Given the description of an element on the screen output the (x, y) to click on. 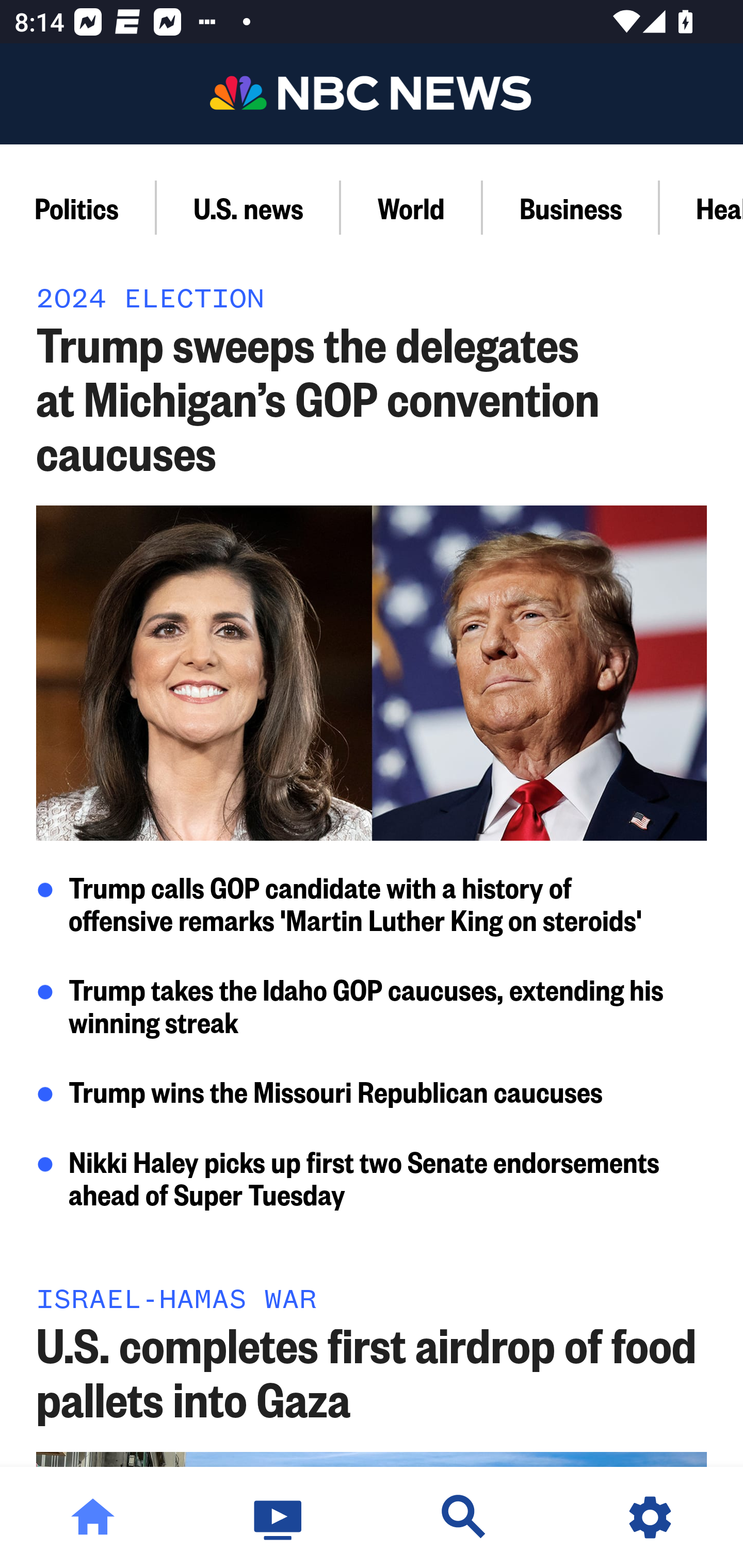
Politics Section,Politics (78, 207)
U.S. news Section,U.S. news (248, 207)
World Section,World (411, 207)
Business Section,Business (570, 207)
Watch (278, 1517)
Discover (464, 1517)
Settings (650, 1517)
